Given the description of an element on the screen output the (x, y) to click on. 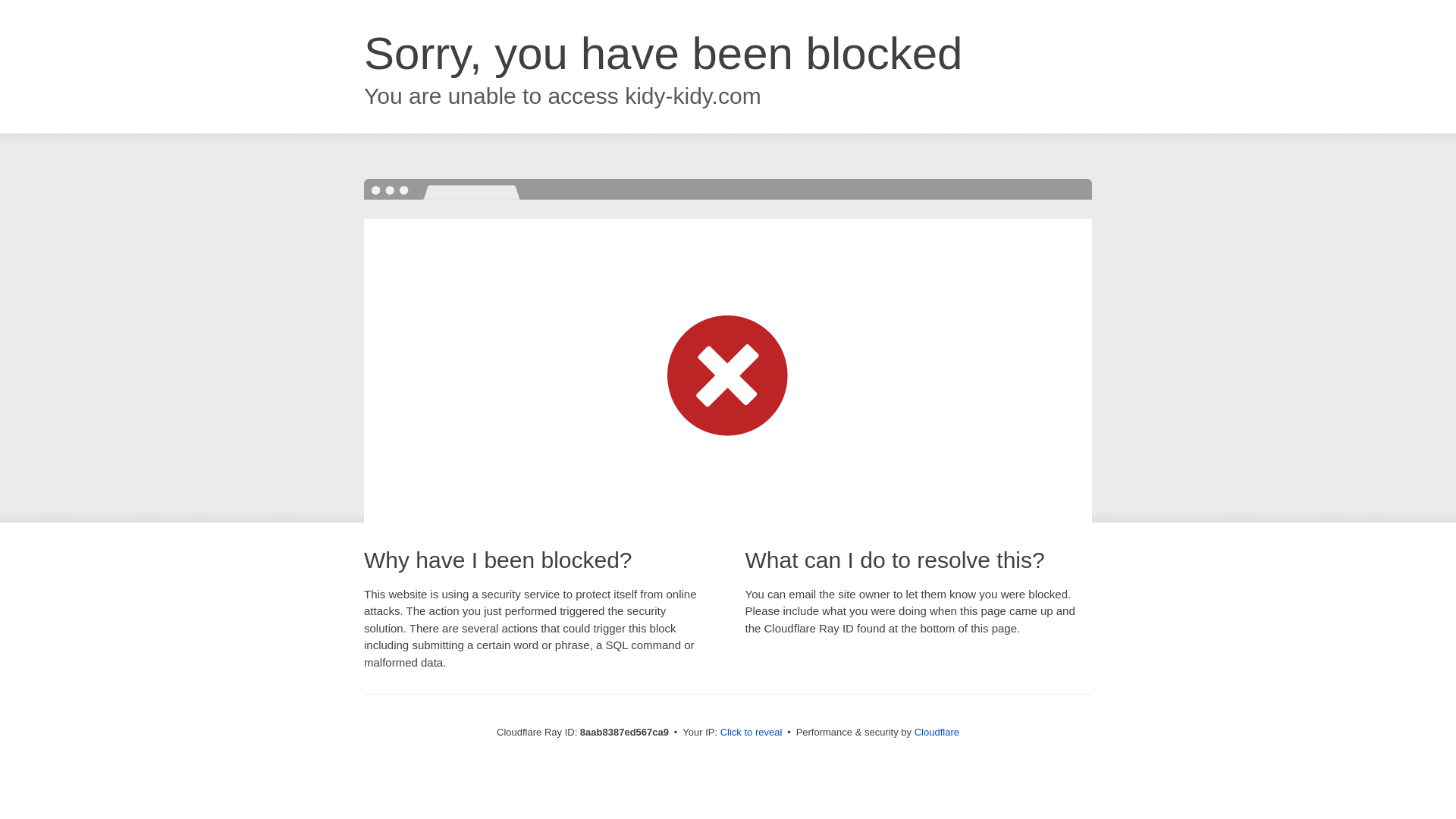
Cloudflare (936, 731)
Click to reveal (751, 732)
